Given the description of an element on the screen output the (x, y) to click on. 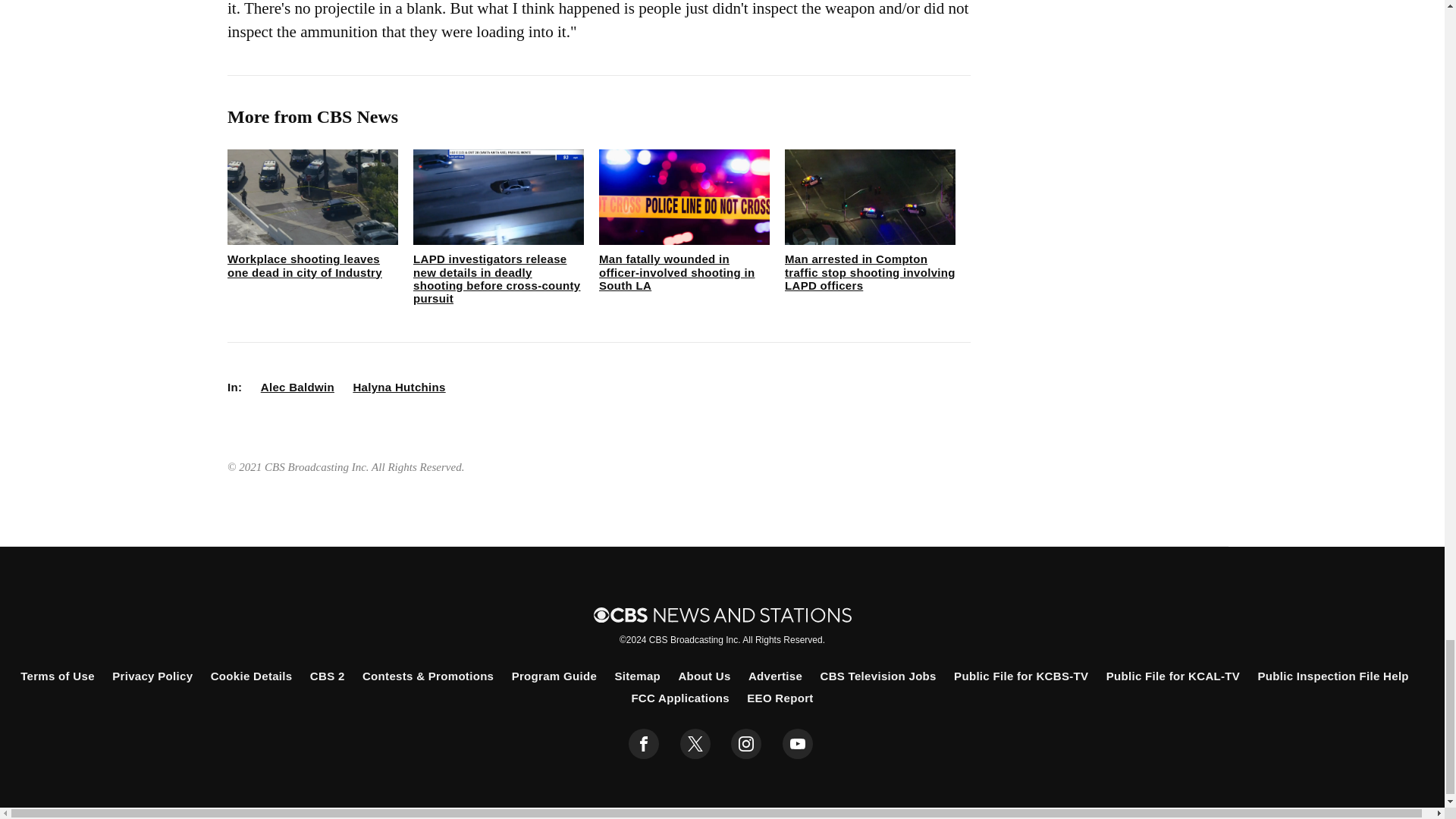
facebook (643, 743)
youtube (797, 743)
instagram (745, 743)
twitter (694, 743)
